Given the description of an element on the screen output the (x, y) to click on. 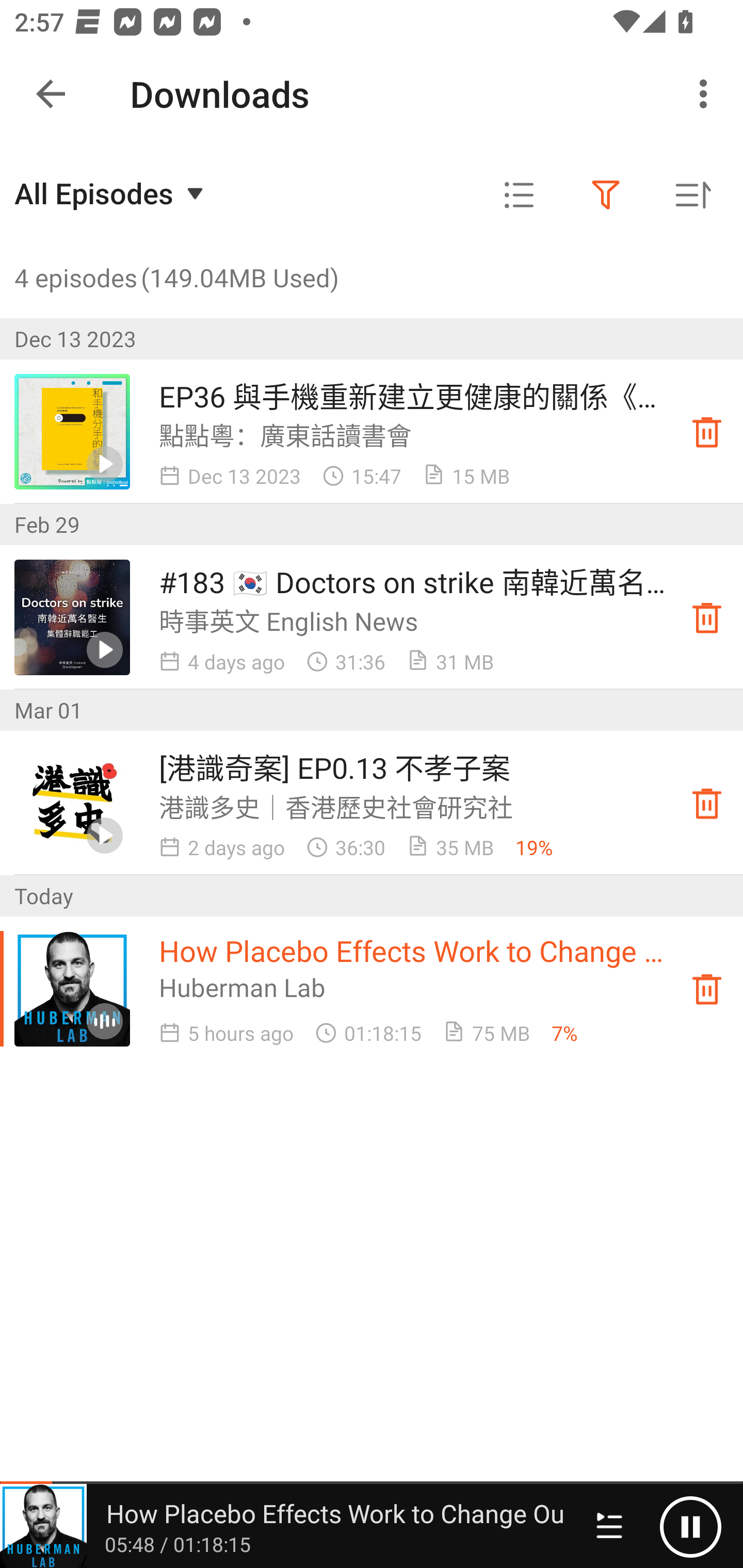
5.0 Downloading 1 episode VIEW (371, 88)
Navigate up (50, 93)
More options (706, 93)
All Episodes (111, 192)
 (518, 195)
 (605, 195)
 Sorted by oldest first (692, 195)
Downloaded (706, 431)
Downloaded (706, 617)
Downloaded (706, 802)
Downloaded (706, 988)
Pause (690, 1526)
